Given the description of an element on the screen output the (x, y) to click on. 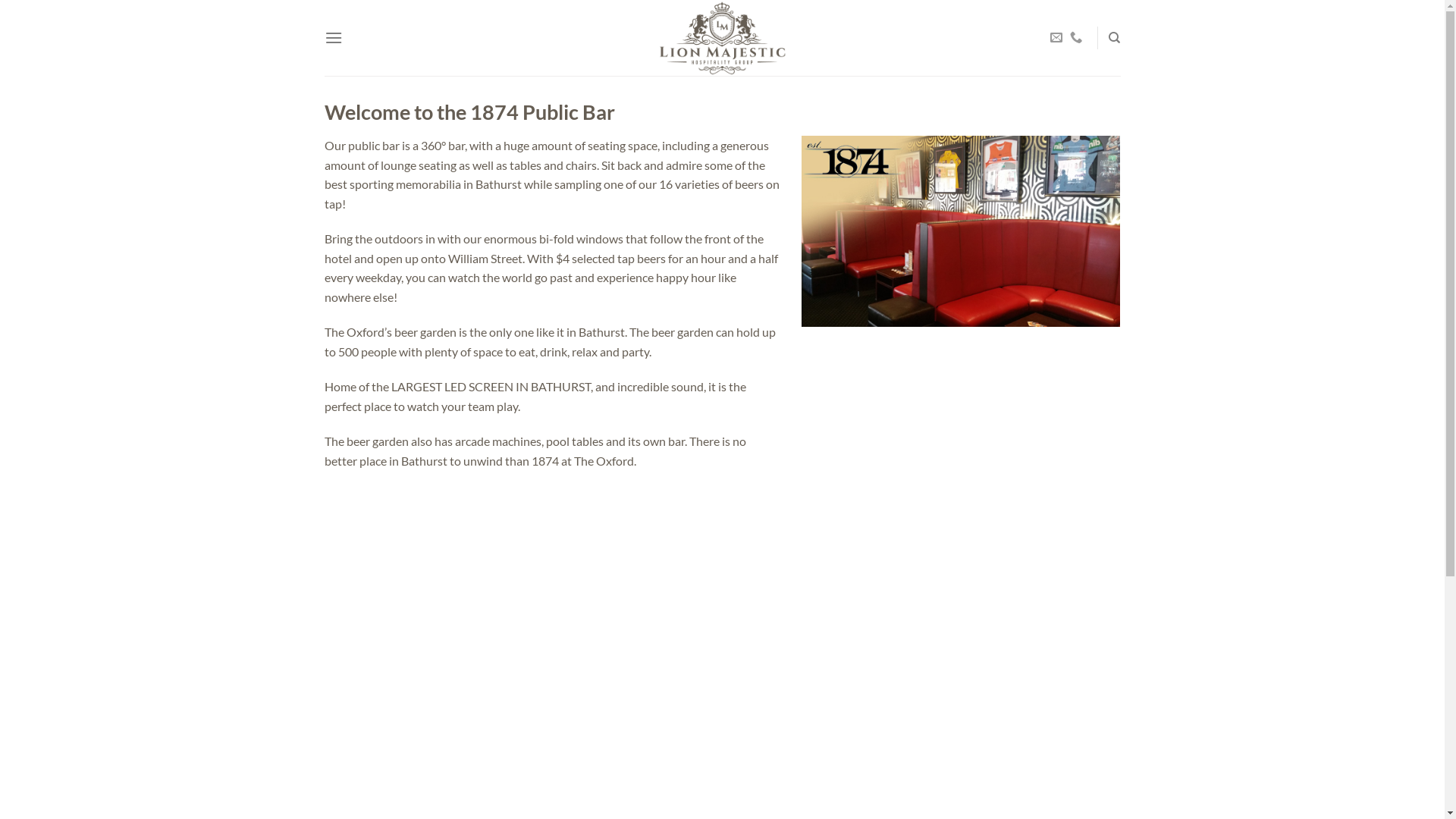
Lion Majestic Element type: hover (721, 37)
